Given the description of an element on the screen output the (x, y) to click on. 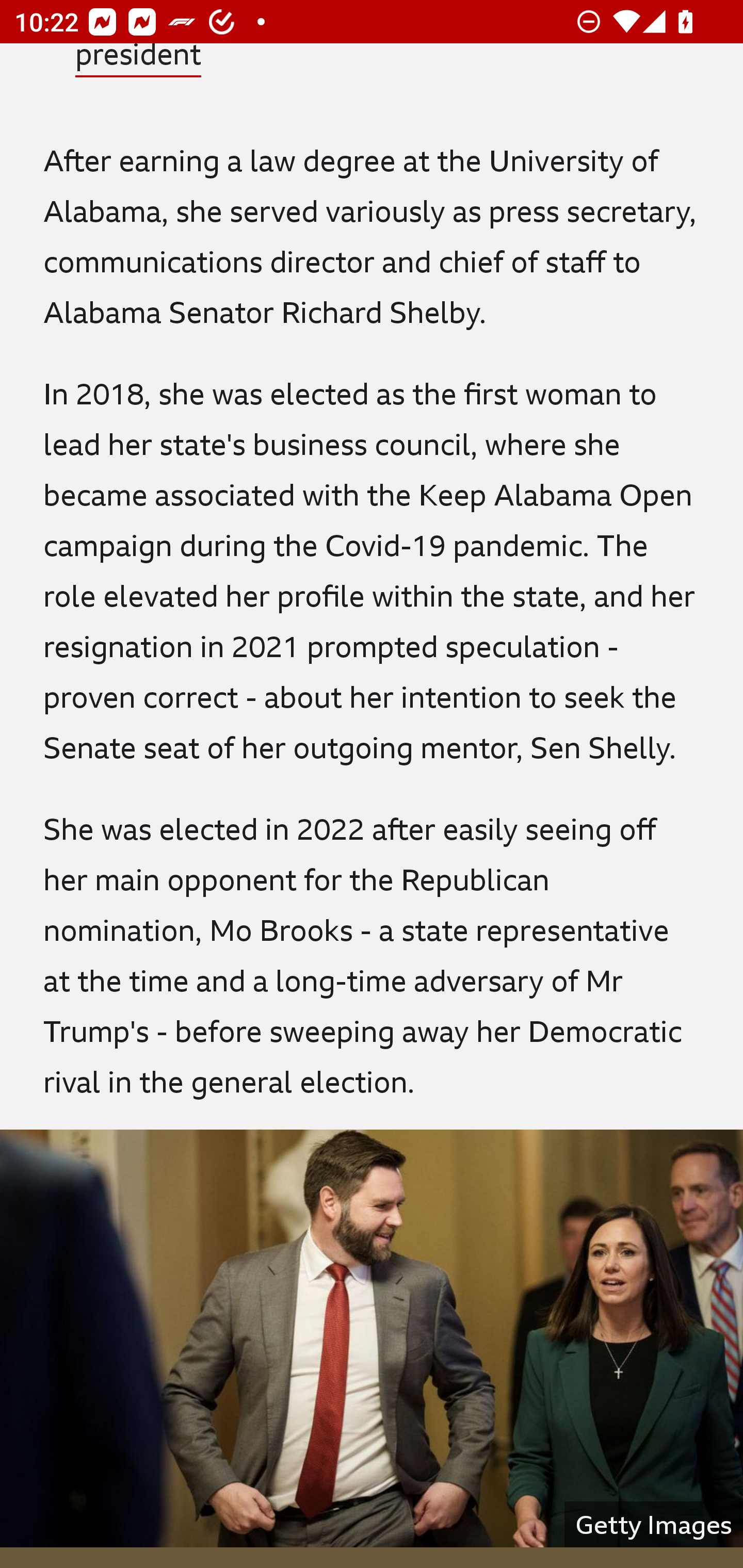
Katie Britt and JD Vance (371, 1337)
